Given the description of an element on the screen output the (x, y) to click on. 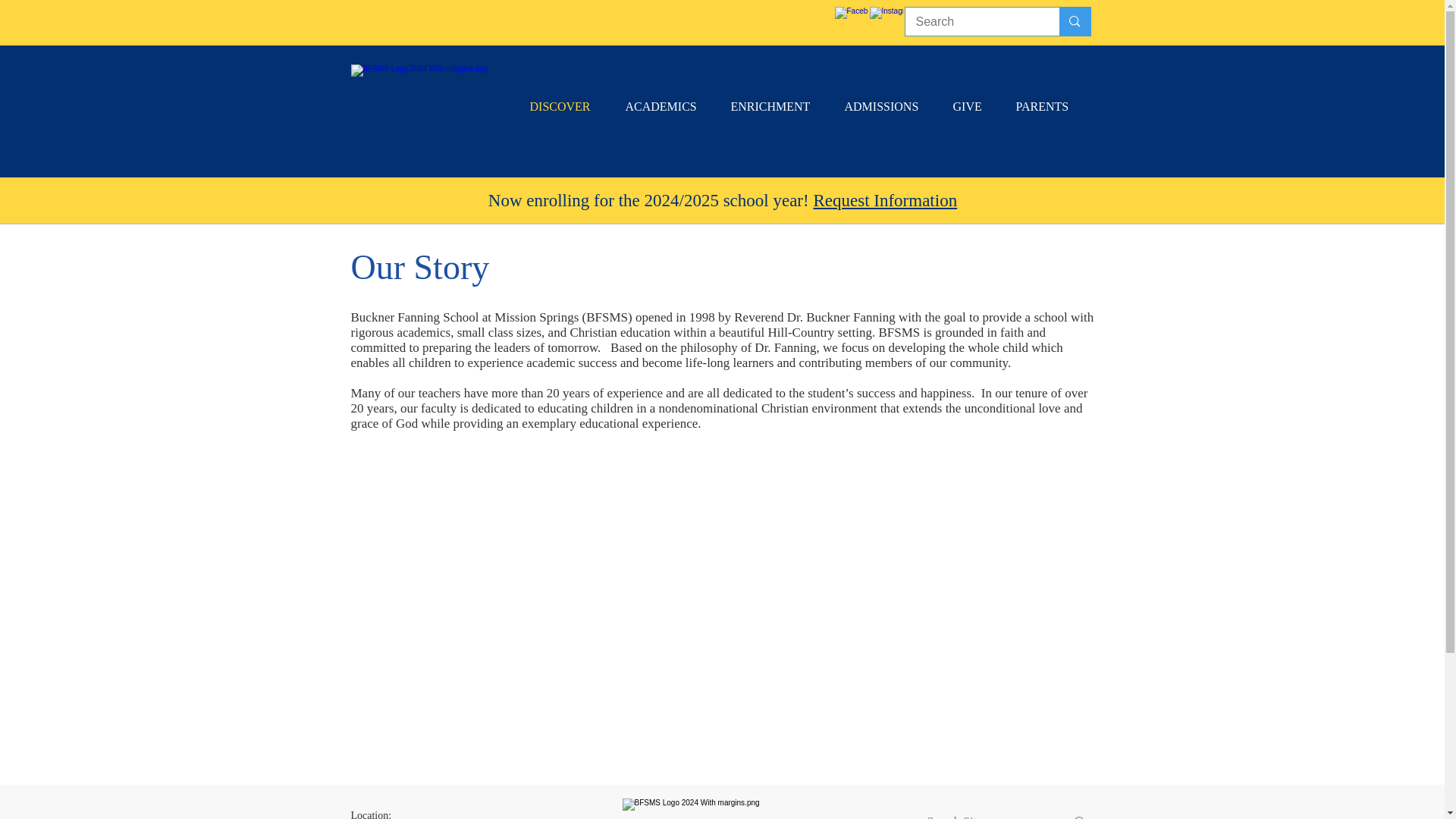
ENRICHMENT (775, 106)
DISCOVER (566, 106)
ACADEMICS (666, 106)
Request Information (884, 199)
